Given the description of an element on the screen output the (x, y) to click on. 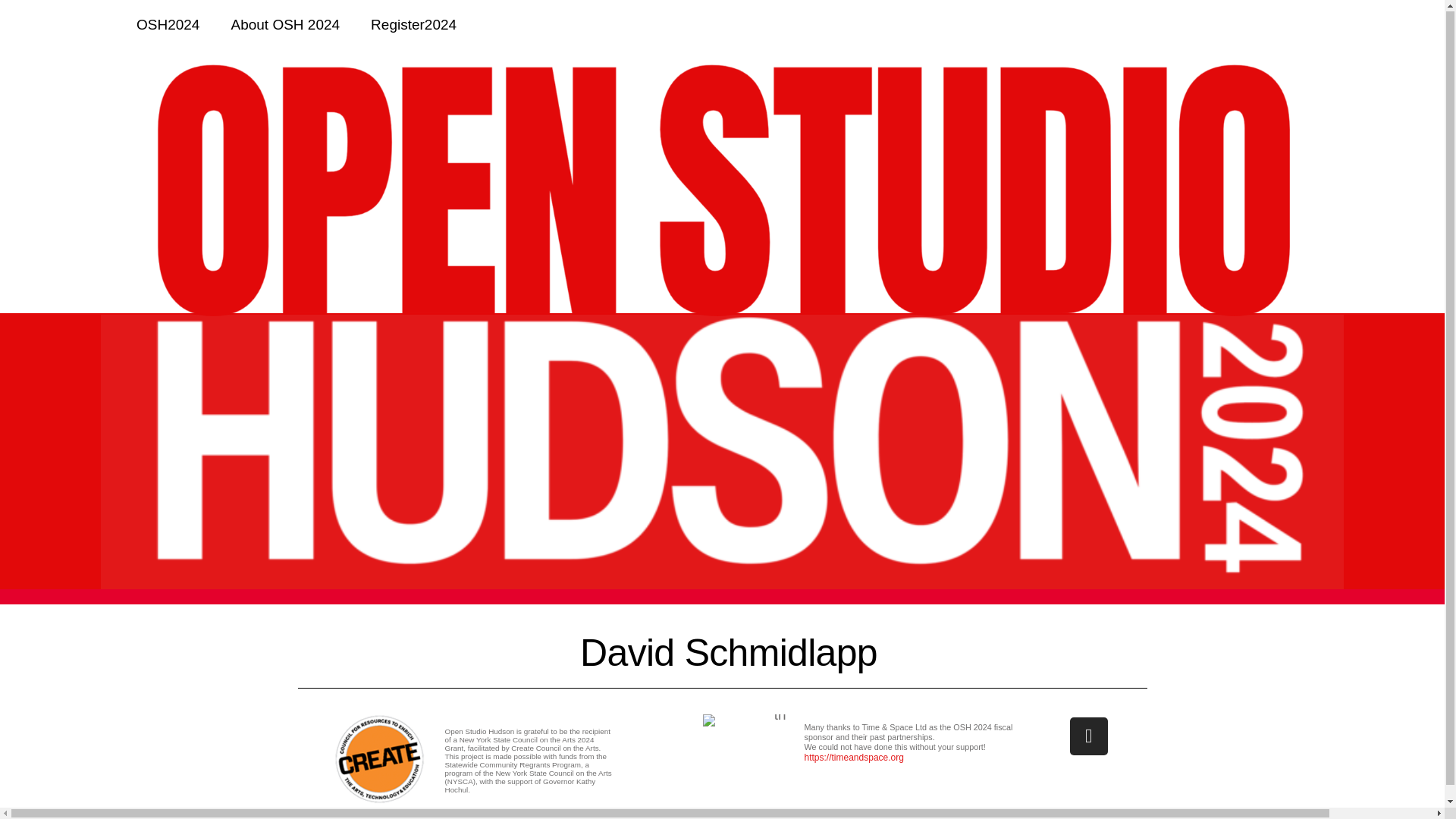
Register2024 (413, 24)
th (744, 720)
OSH2024 (167, 24)
About OSH 2024 (285, 24)
